Given the description of an element on the screen output the (x, y) to click on. 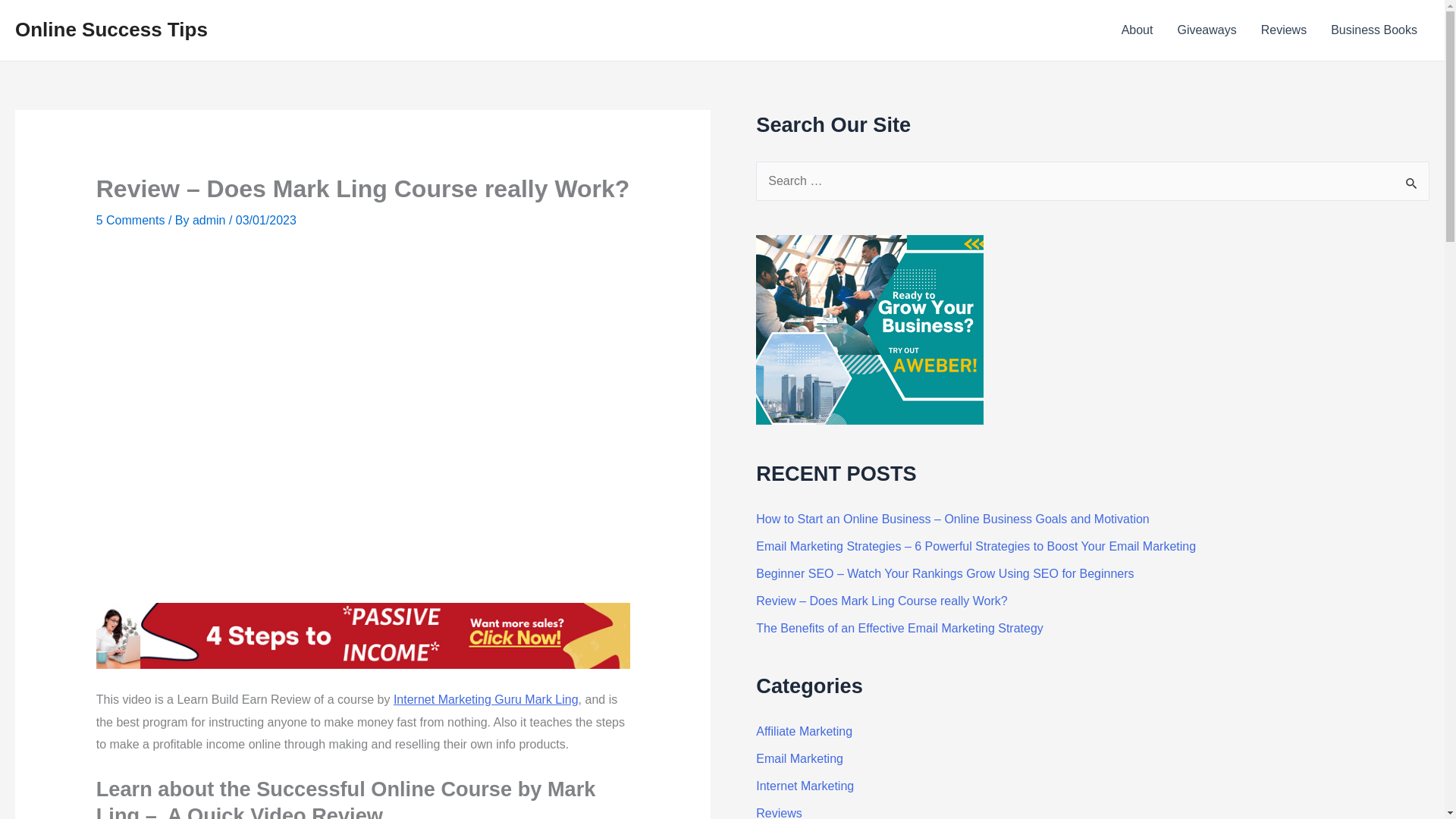
5 Comments (130, 219)
Online Success Tips (111, 29)
Internet Marketing (804, 785)
Affiliate Marketing (803, 730)
Reviews (1284, 30)
Reviews (778, 812)
The Benefits of an Effective Email Marketing Strategy (899, 627)
Business Books (1374, 30)
admin (210, 219)
View all posts by admin (210, 219)
